Given the description of an element on the screen output the (x, y) to click on. 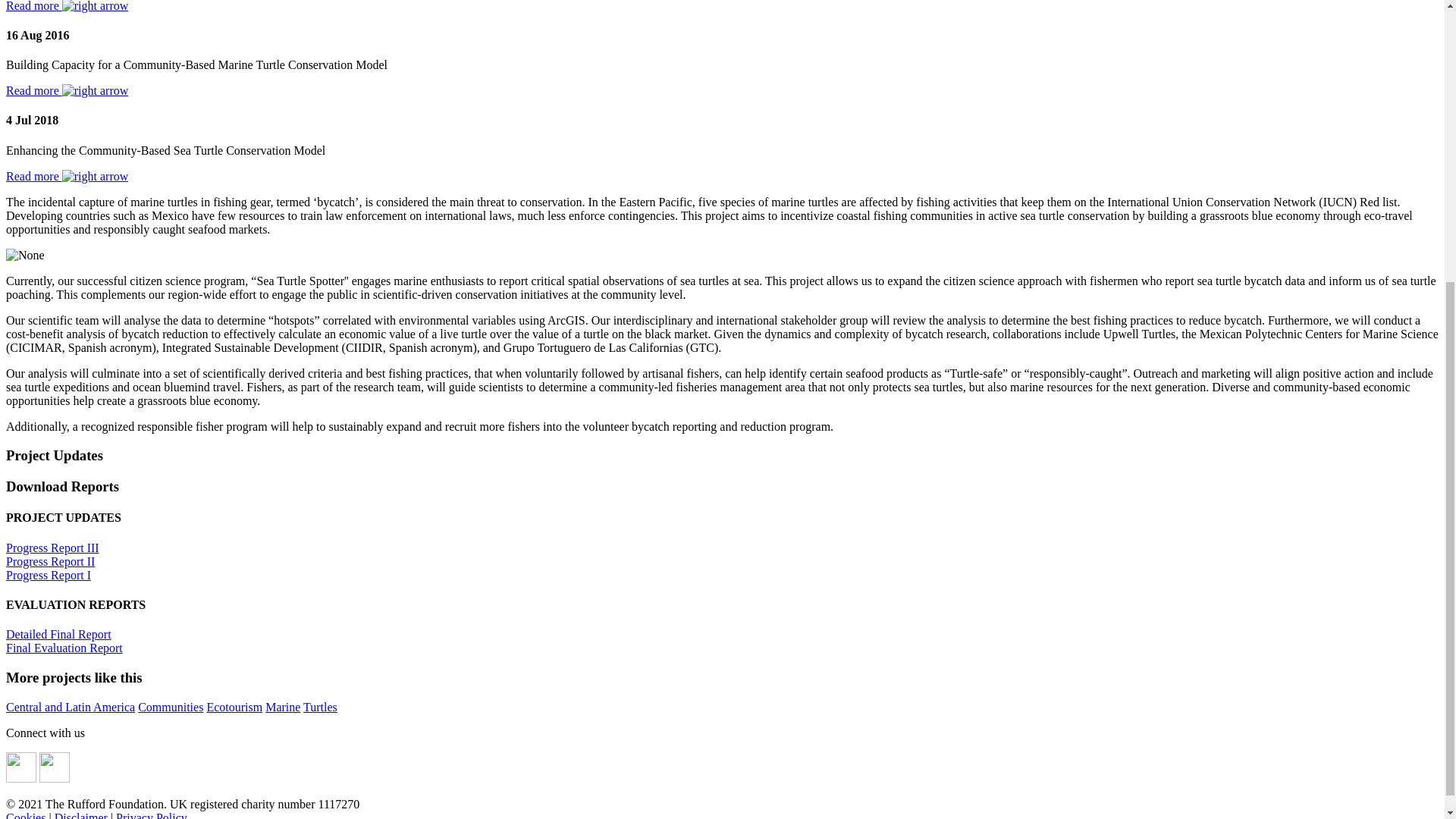
Ecotourism (234, 707)
Communities (170, 707)
Progress Report II (49, 561)
Marine (281, 707)
Progress Report III (52, 547)
Read more (66, 90)
The Rufford Foundation on Twitter (54, 778)
Detailed Final Report (58, 634)
Progress Report I (47, 574)
Turtles (319, 707)
Central and Latin America (70, 707)
The Rufford Foundation on Facebook (20, 778)
Progress Report II (49, 561)
Final Evaluation Report (63, 647)
Detailed Final Report (58, 634)
